Given the description of an element on the screen output the (x, y) to click on. 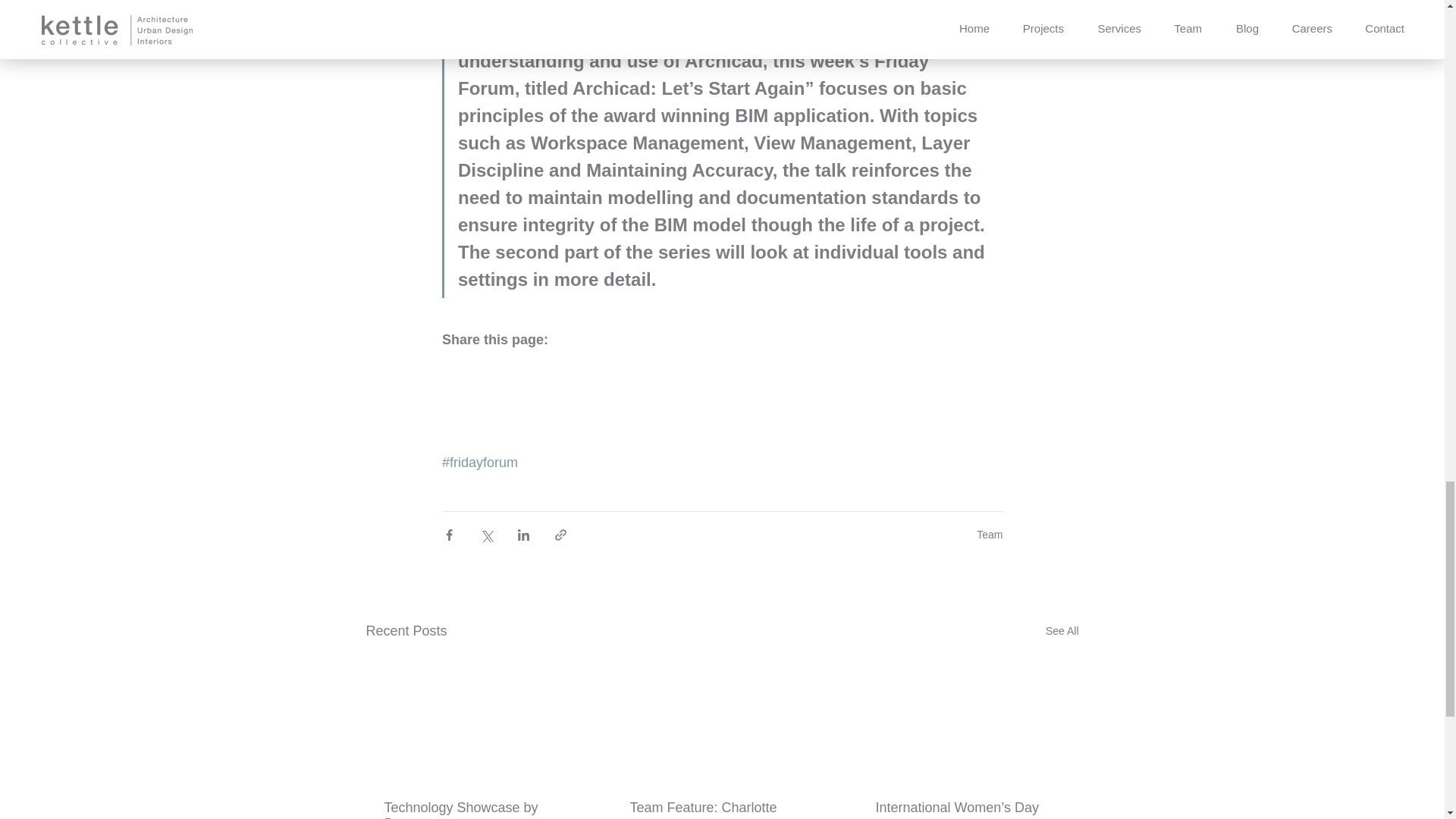
Team Feature: Charlotte (720, 807)
Khairul Khalifah (554, 0)
Technology Showcase by Dyson (475, 809)
See All (1061, 630)
Team (989, 534)
